Given the description of an element on the screen output the (x, y) to click on. 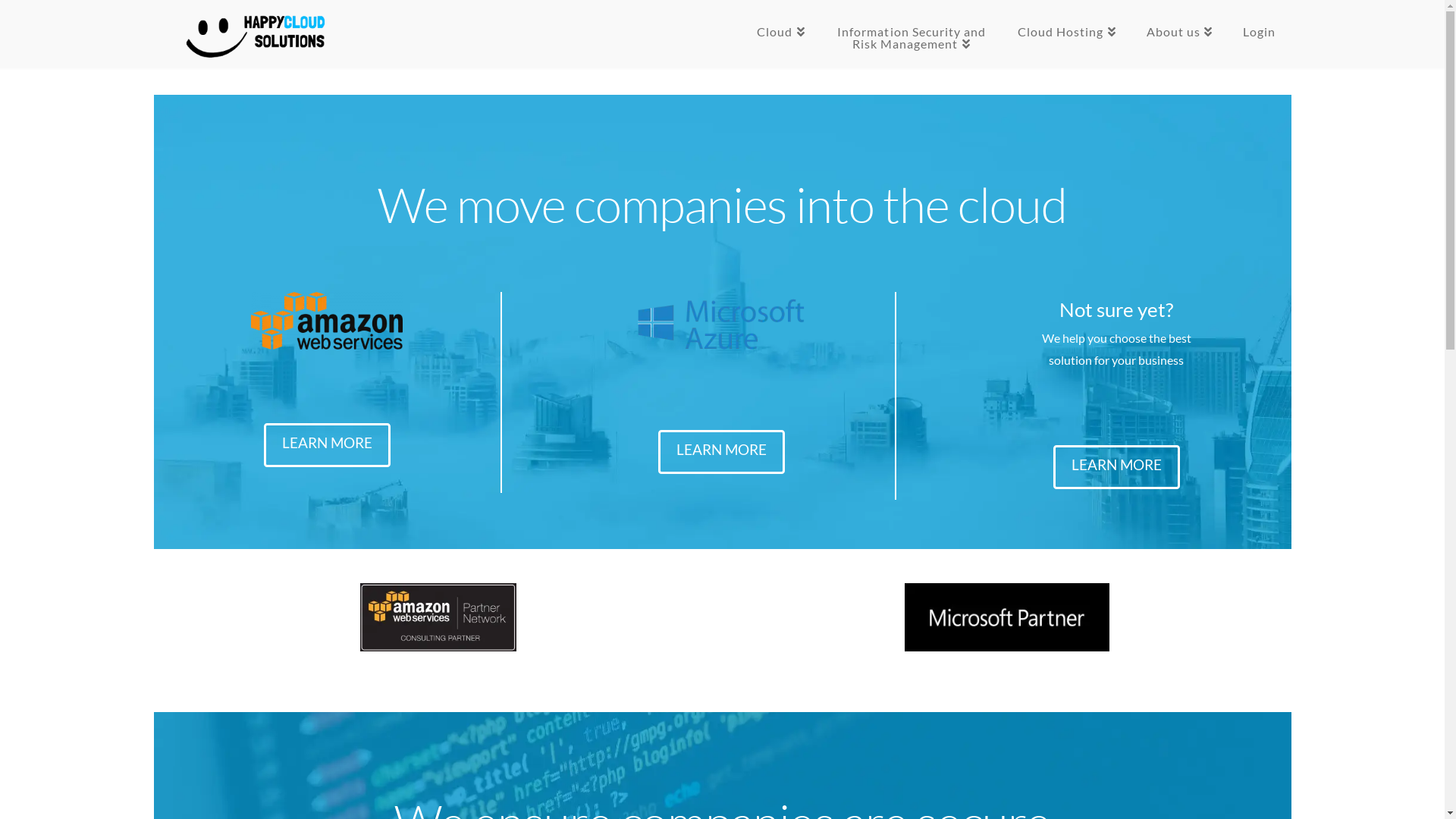
LEARN MORE Element type: text (326, 445)
About us Element type: text (1179, 34)
LEARN MORE Element type: text (1116, 467)
Cloud Element type: text (780, 34)
Cloud Hosting Element type: text (1066, 34)
LEARN MORE Element type: text (721, 451)
Information Security and Risk Management Element type: text (911, 34)
Login Element type: text (1258, 34)
We make IT work for you Element type: hover (259, 35)
